Given the description of an element on the screen output the (x, y) to click on. 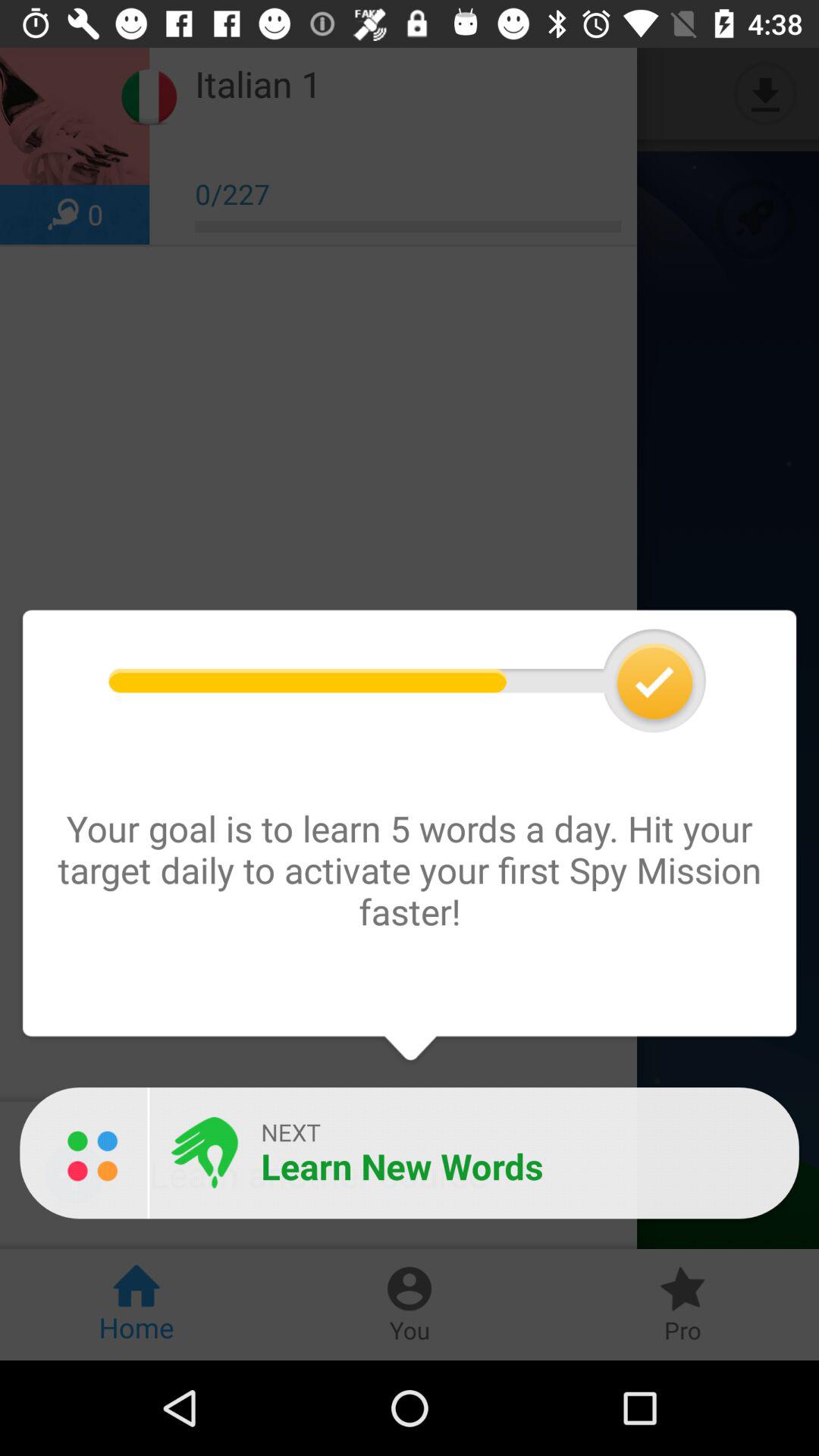
button below the pop up message (409, 1153)
